Given the description of an element on the screen output the (x, y) to click on. 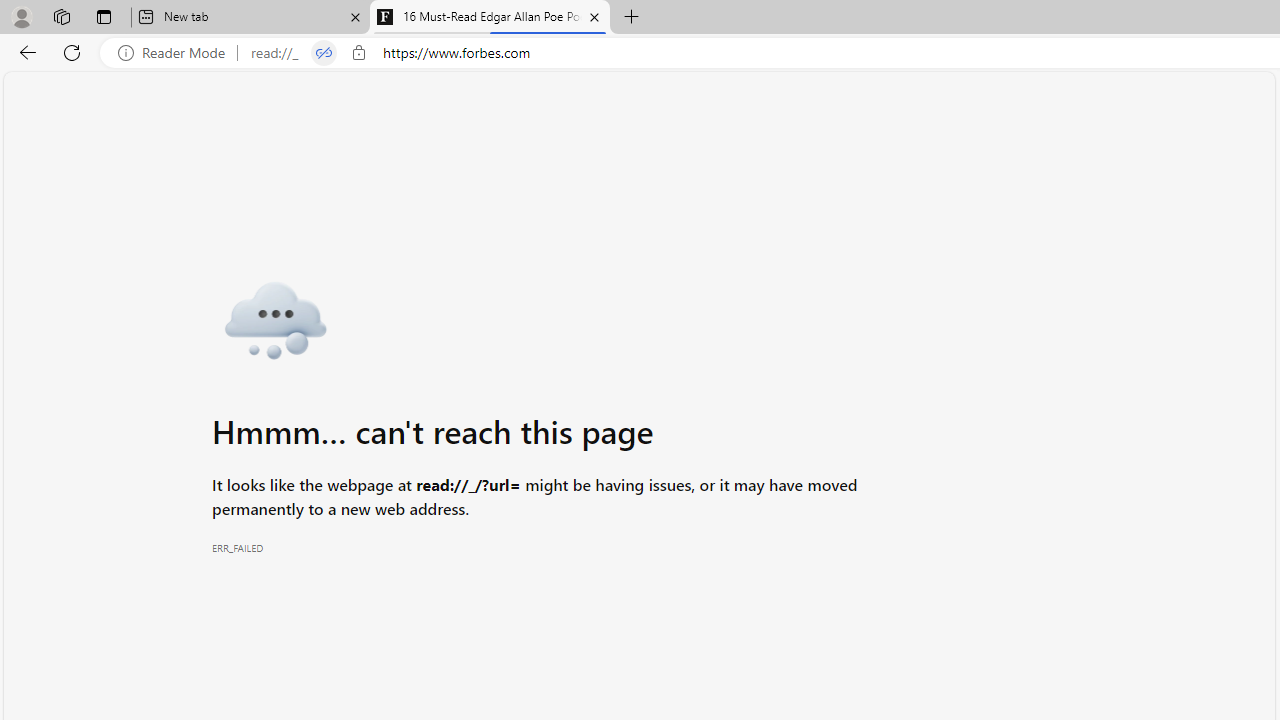
Tabs in split screen (323, 53)
Reader Mode (177, 53)
16 Must-Read Edgar Allan Poe Poems And Short Stories (490, 17)
